Given the description of an element on the screen output the (x, y) to click on. 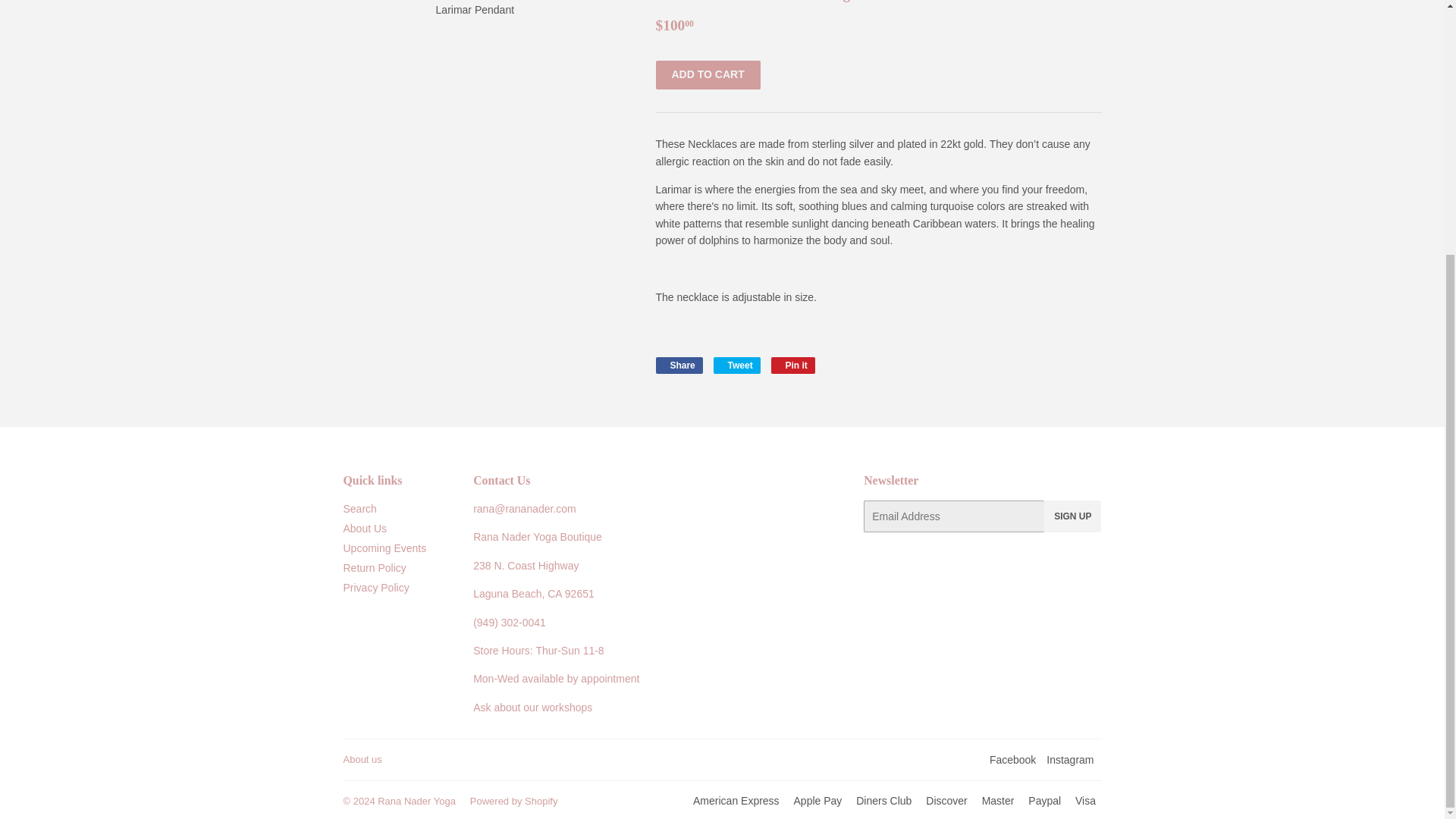
SIGN UP (793, 365)
Privacy Policy (736, 365)
About us (1071, 516)
Instagram (375, 587)
ADD TO CART (361, 758)
Pin on Pinterest (1069, 759)
Facebook (707, 74)
Upcoming Events (793, 365)
